Given the description of an element on the screen output the (x, y) to click on. 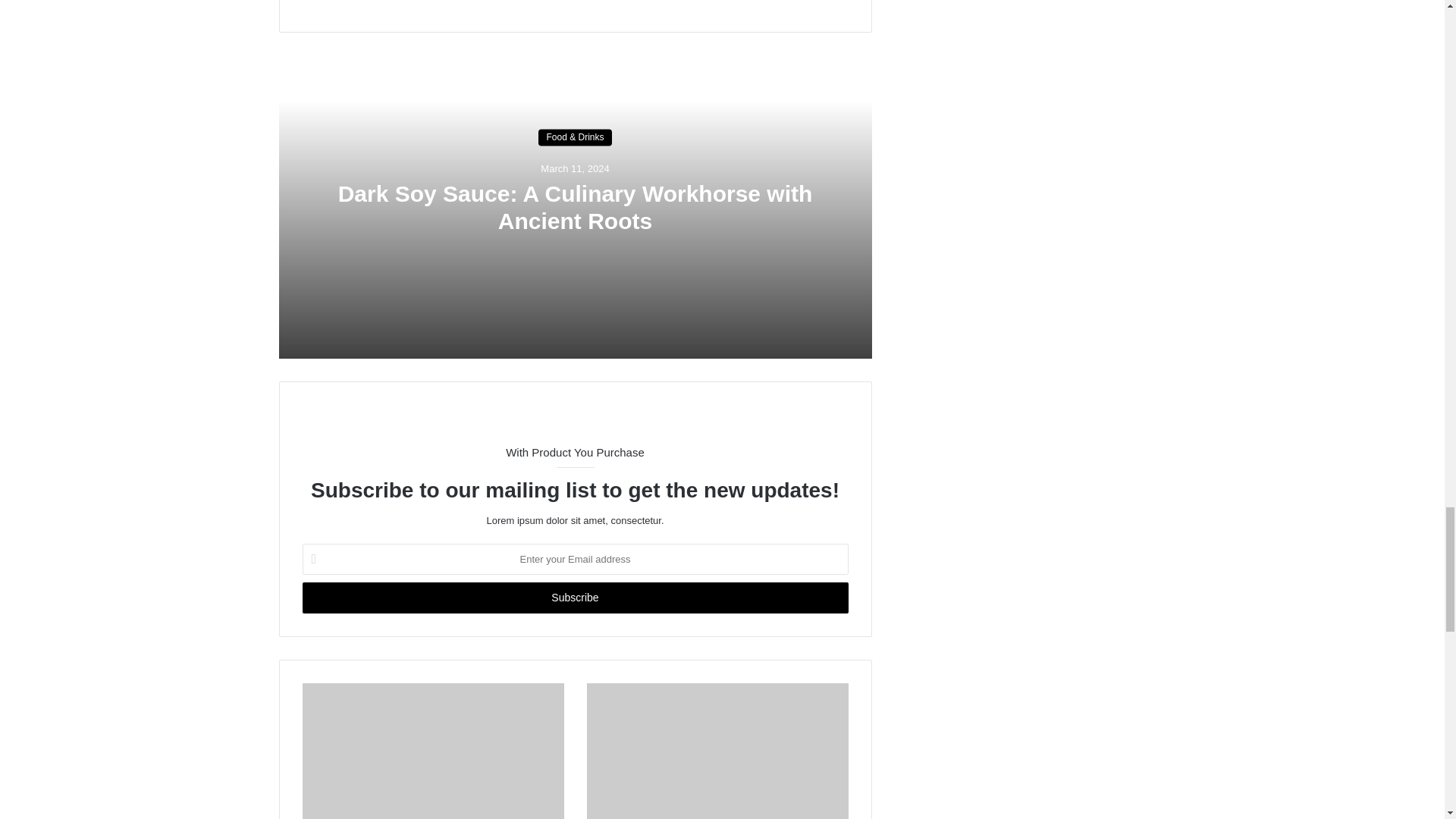
Subscribe (574, 597)
